Given the description of an element on the screen output the (x, y) to click on. 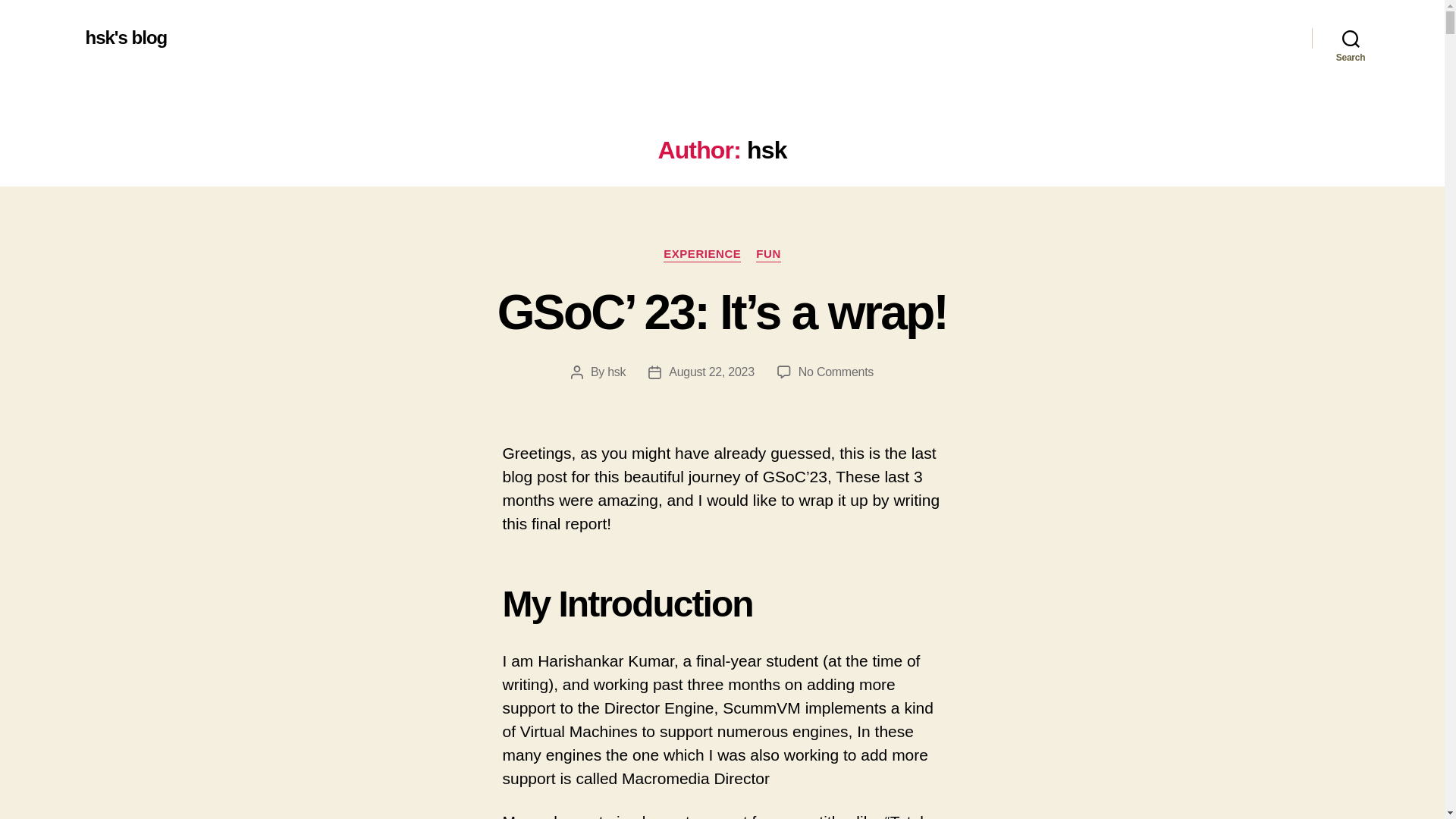
FUN (767, 254)
hsk's blog (125, 37)
hsk (616, 371)
EXPERIENCE (702, 254)
August 22, 2023 (711, 371)
Search (1350, 37)
